Given the description of an element on the screen output the (x, y) to click on. 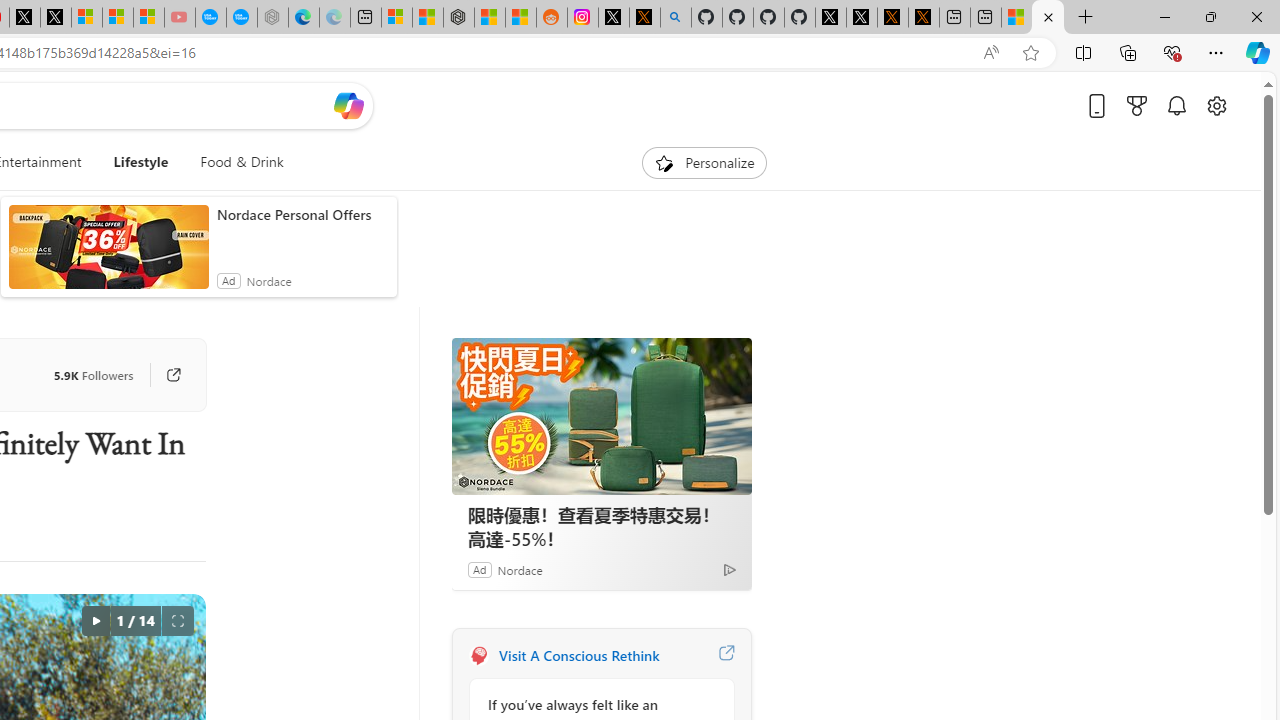
To get missing image descriptions, open the context menu. (664, 162)
Gloom - YouTube - Sleeping (179, 17)
Microsoft rewards (1137, 105)
Lifestyle (141, 162)
Full screen (177, 620)
github - Search (675, 17)
X Privacy Policy (923, 17)
Log in to X / X (613, 17)
